Given the description of an element on the screen output the (x, y) to click on. 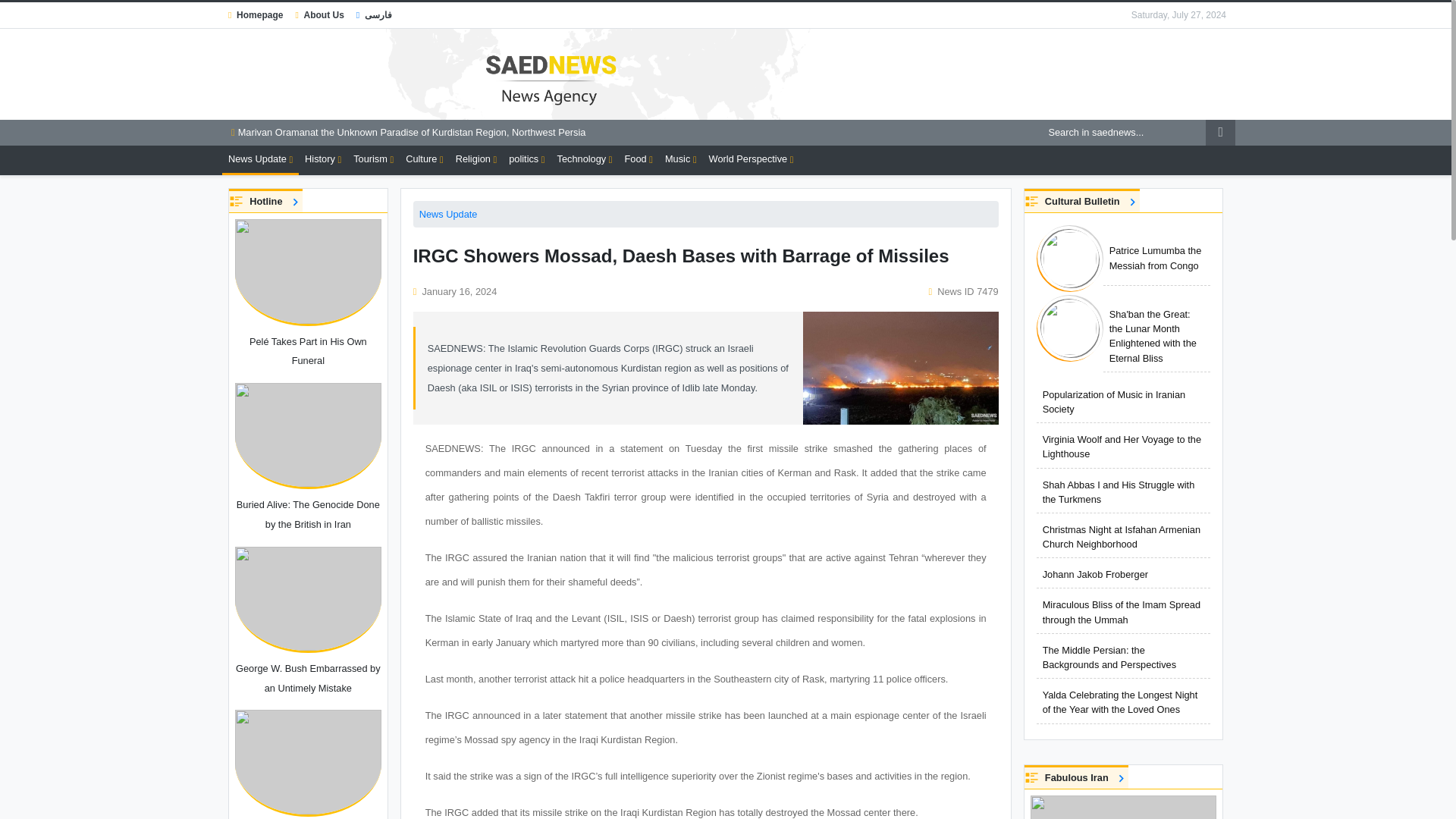
politics (526, 158)
  About Us (318, 14)
Culture (423, 158)
News Update (448, 214)
News Update (260, 160)
Food (638, 158)
Religion (475, 158)
History (322, 158)
  Homepage (255, 14)
Music (681, 158)
Technology (584, 158)
World Perspective (751, 158)
Tourism (372, 158)
